Given the description of an element on the screen output the (x, y) to click on. 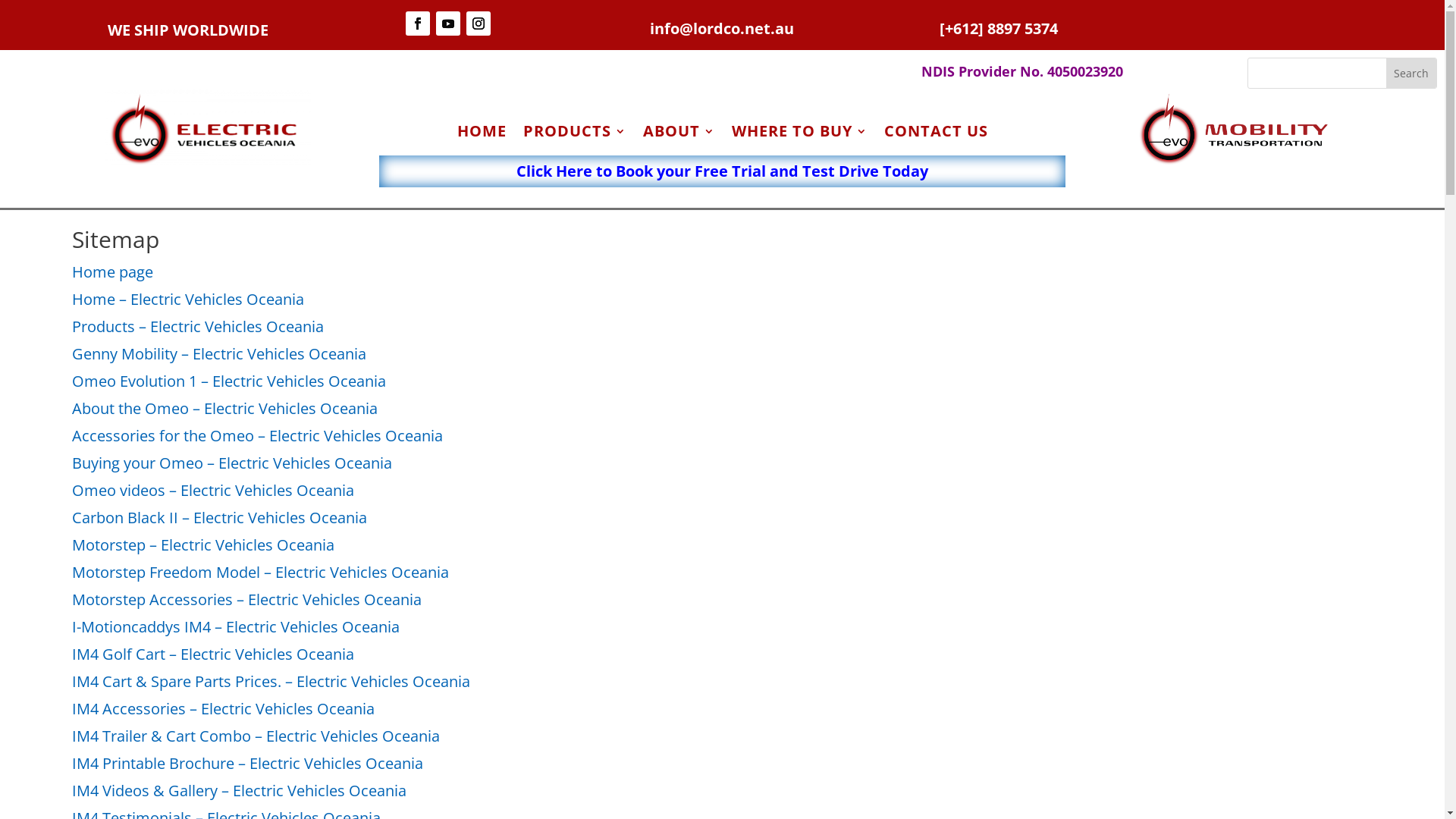
Click Here to Book your Free Trial and Test Drive Today Element type: text (722, 170)
Home page Element type: text (112, 271)
Follow on Youtube Element type: hover (448, 23)
ABOUT Element type: text (679, 133)
[+612] 8897 5374 Element type: text (998, 28)
Search Element type: text (1411, 72)
PRODUCTS Element type: text (574, 133)
CONTACT US Element type: text (936, 133)
Follow on Facebook Element type: hover (417, 23)
Follow on Instagram Element type: hover (478, 23)
info@lordco.net.au Element type: text (721, 28)
WHERE TO BUY Element type: text (798, 133)
EVO-MOBILITY-TRANSPORTATION Element type: hover (1236, 126)
HOME Element type: text (480, 133)
